Given the description of an element on the screen output the (x, y) to click on. 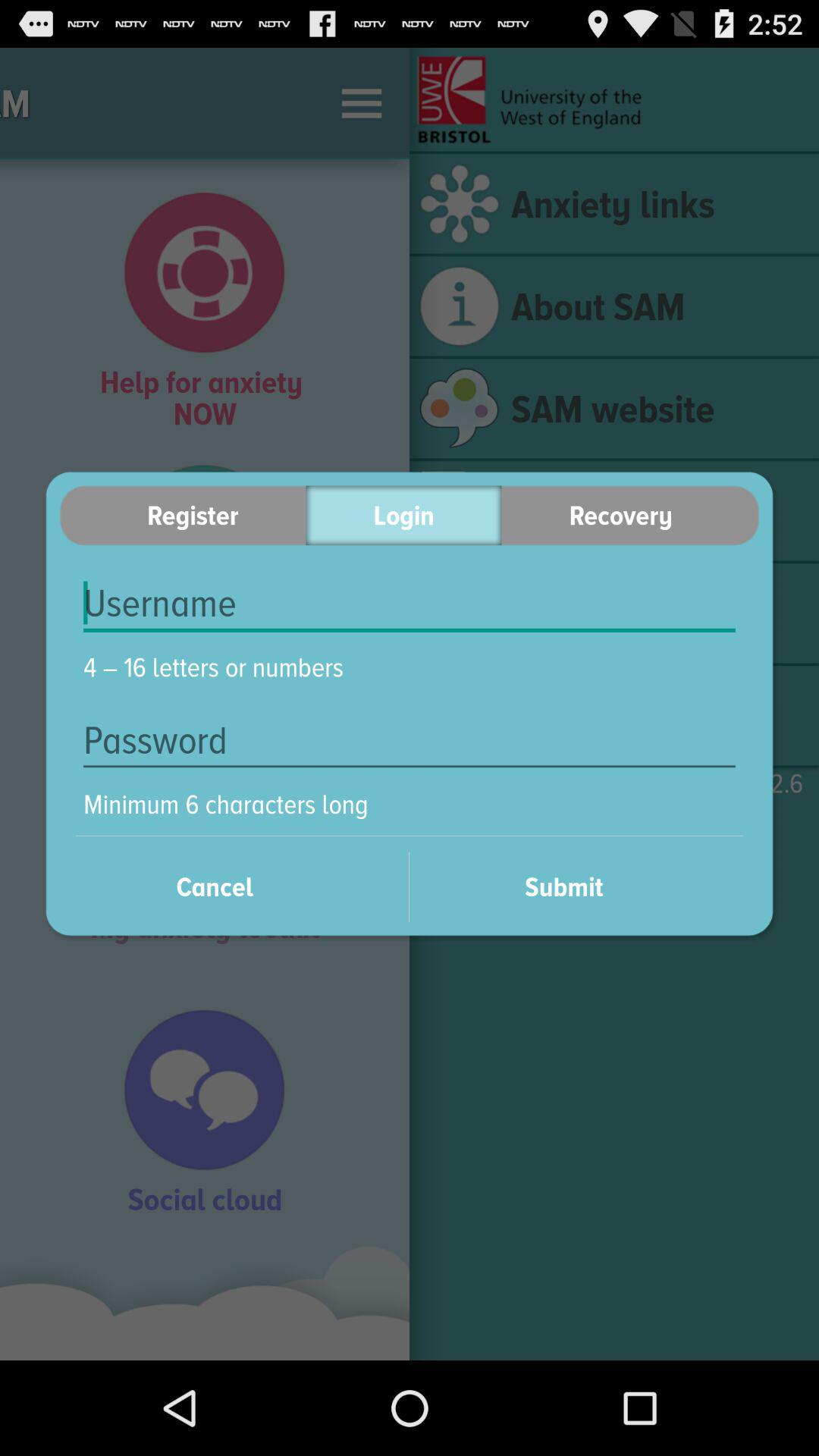
swipe until cancel item (234, 886)
